Given the description of an element on the screen output the (x, y) to click on. 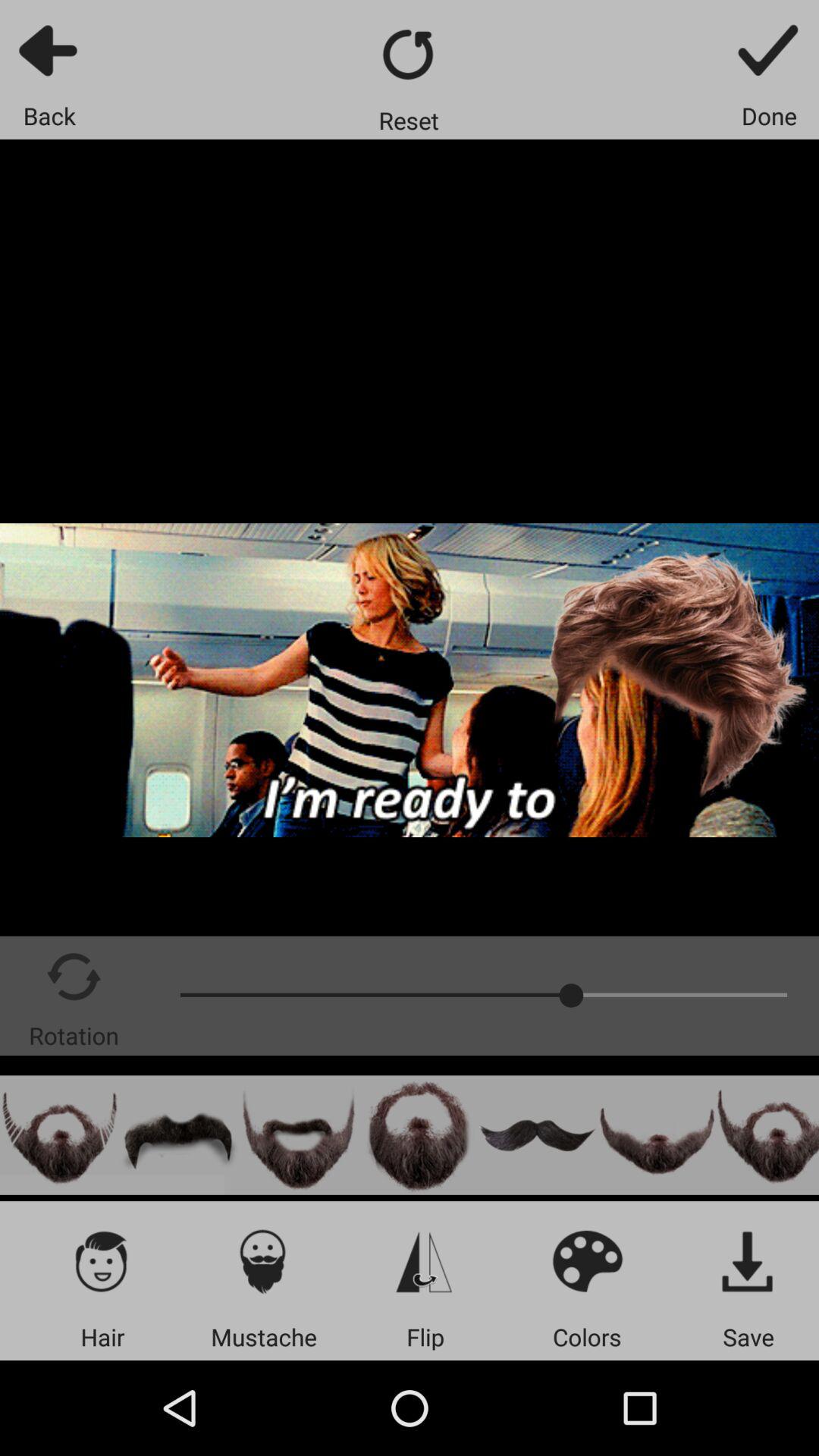
reset (408, 54)
